Given the description of an element on the screen output the (x, y) to click on. 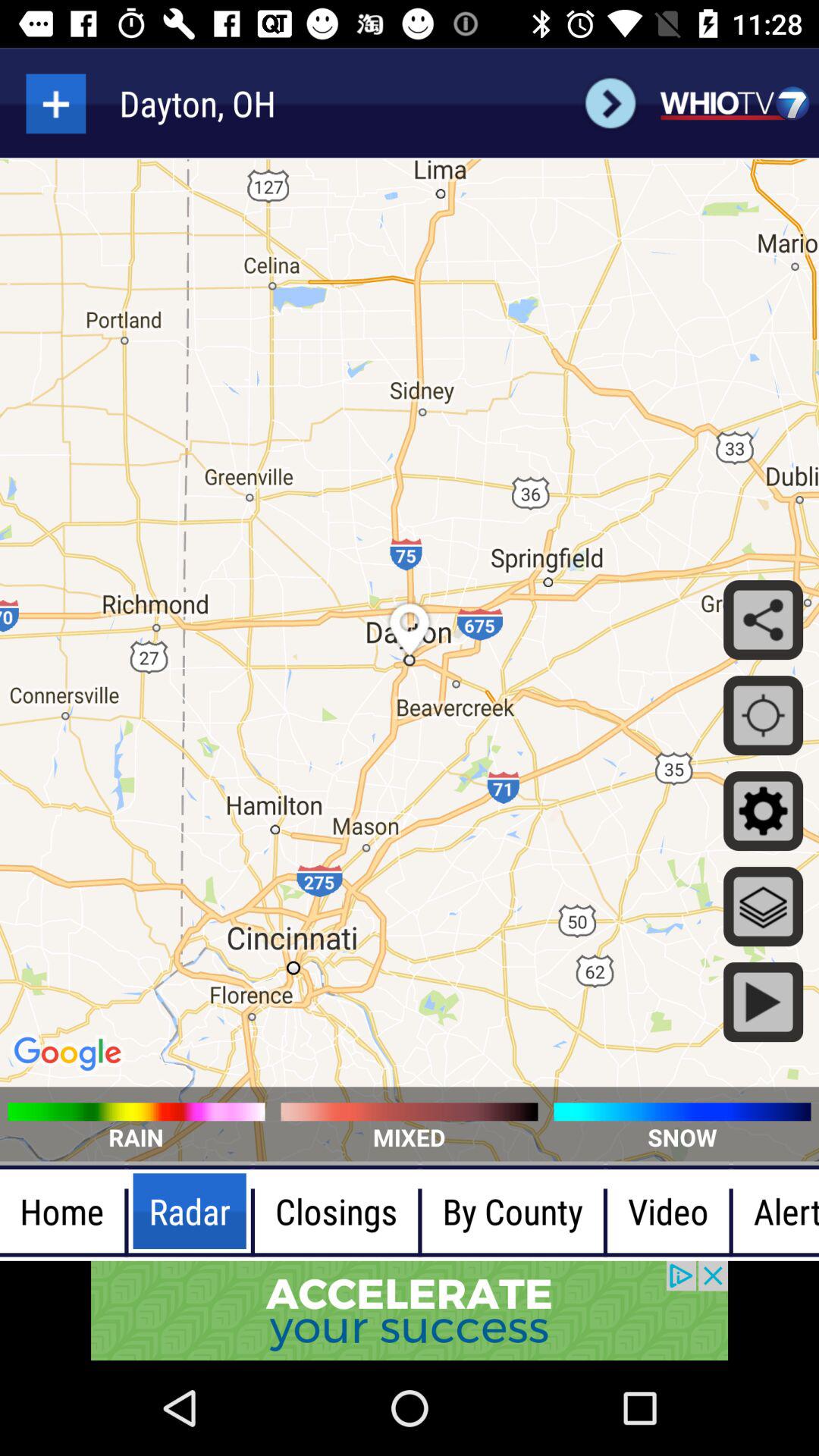
loads the app 's website (734, 103)
